Given the description of an element on the screen output the (x, y) to click on. 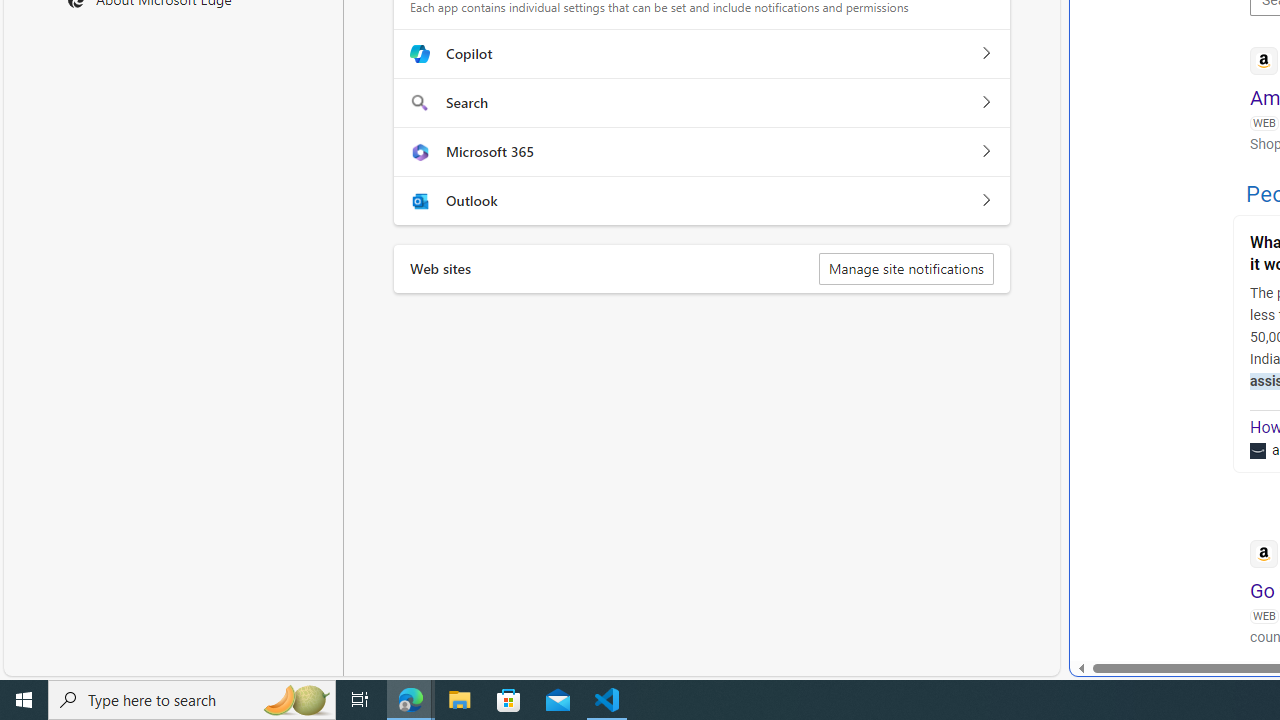
Manage site notifications (905, 268)
Copilot (985, 54)
